Given the description of an element on the screen output the (x, y) to click on. 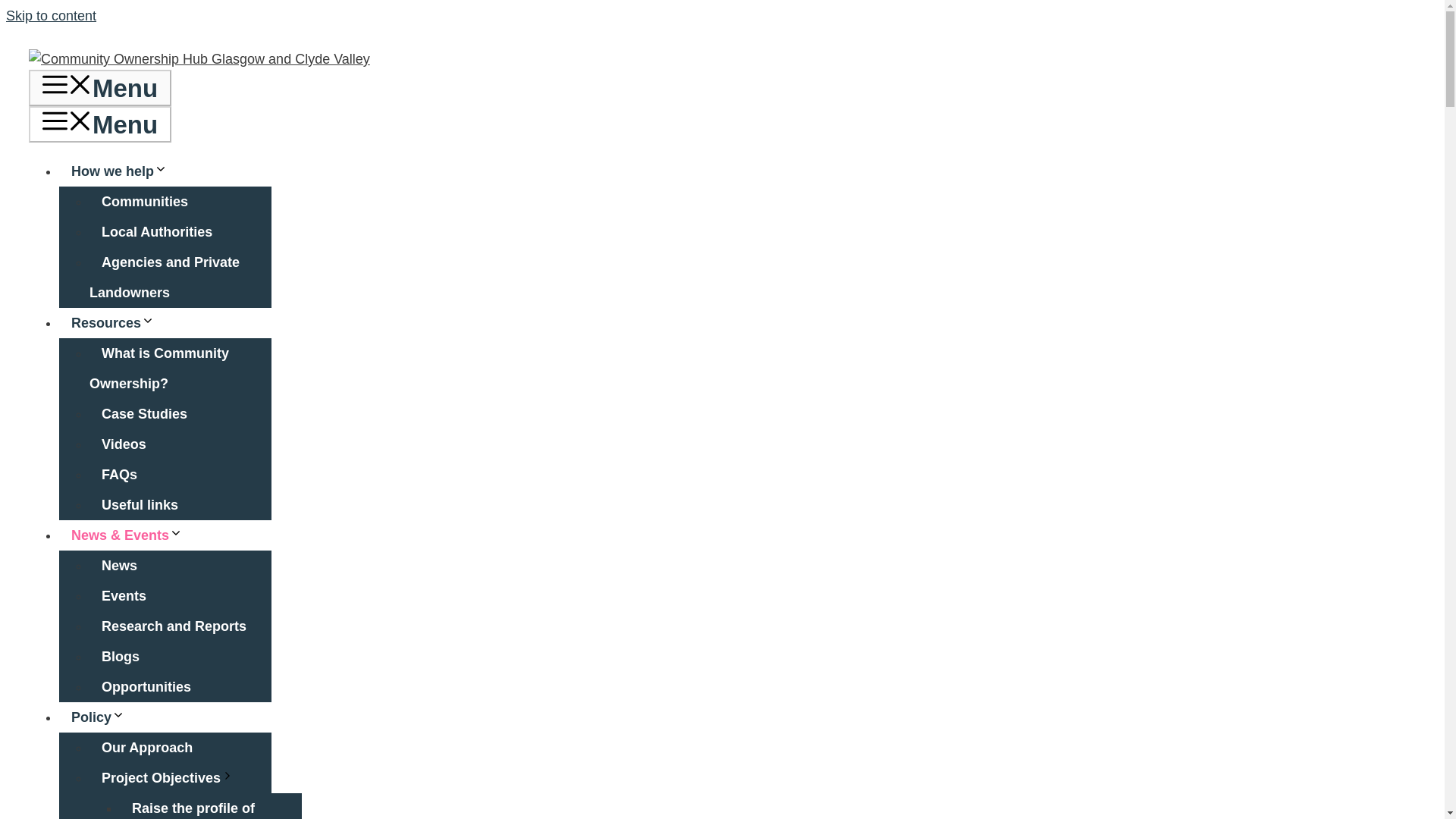
Local Authorities (156, 232)
What is Community Ownership? (158, 368)
Agencies and Private Landowners (164, 277)
Opportunities (145, 686)
Skip to content (50, 15)
Research and Reports (173, 625)
Events (123, 595)
Raise the profile of community ownership (197, 806)
Useful links (139, 504)
Project Objectives (173, 777)
